Given the description of an element on the screen output the (x, y) to click on. 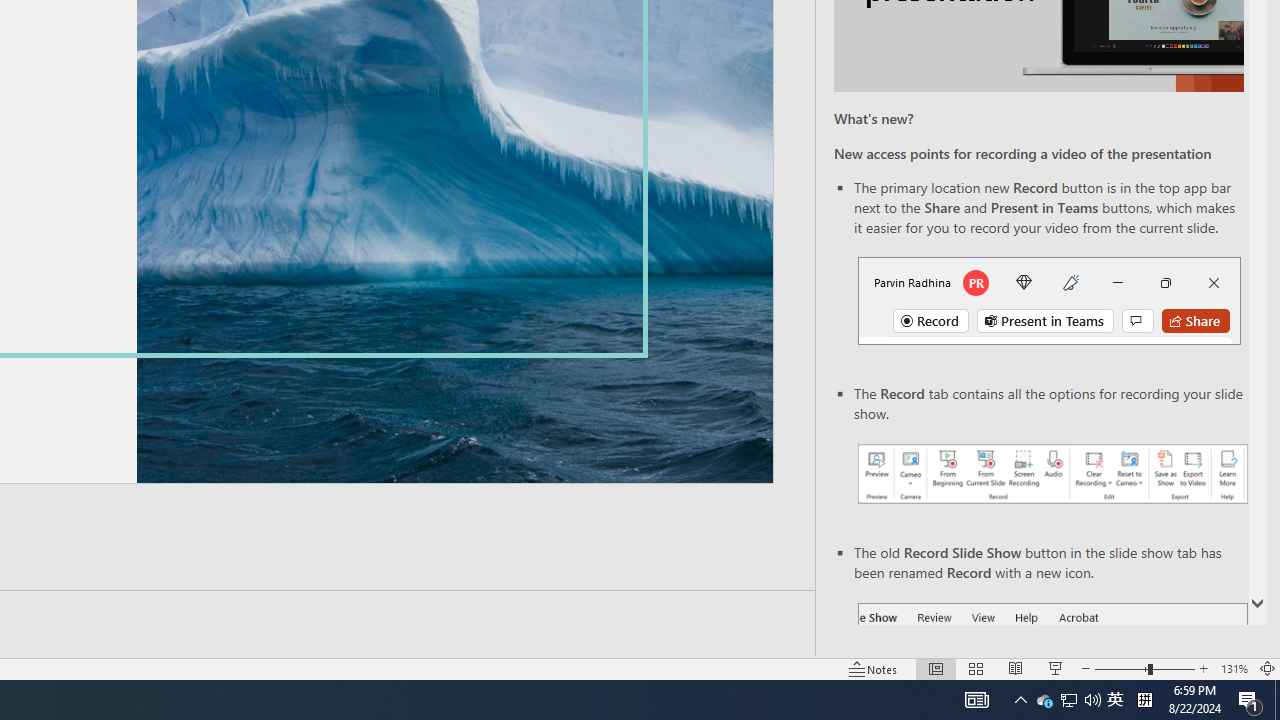
Record button in top bar (1049, 300)
Record your presentations screenshot one (1052, 473)
